Given the description of an element on the screen output the (x, y) to click on. 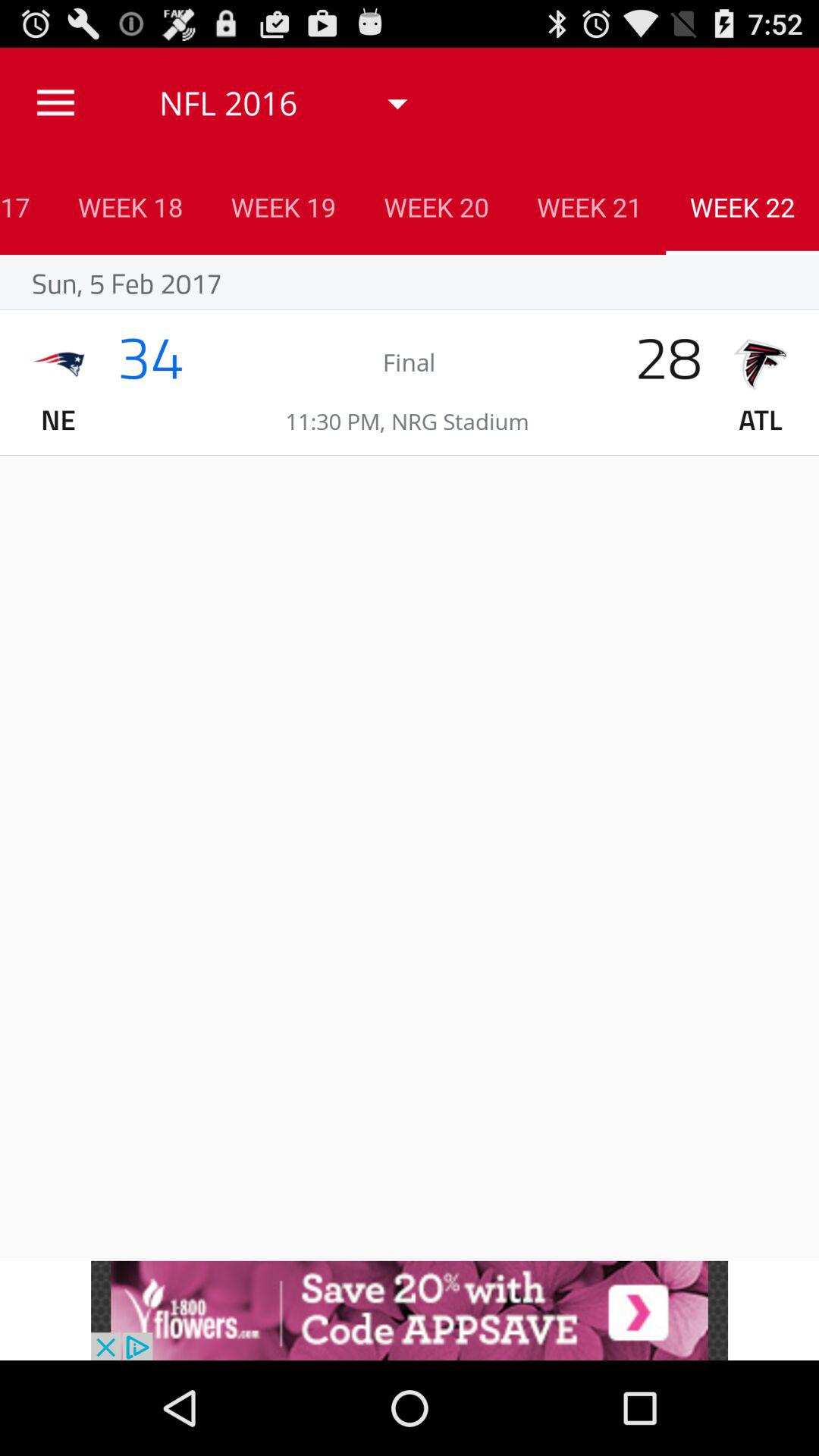
click advertisement (409, 1310)
